Given the description of an element on the screen output the (x, y) to click on. 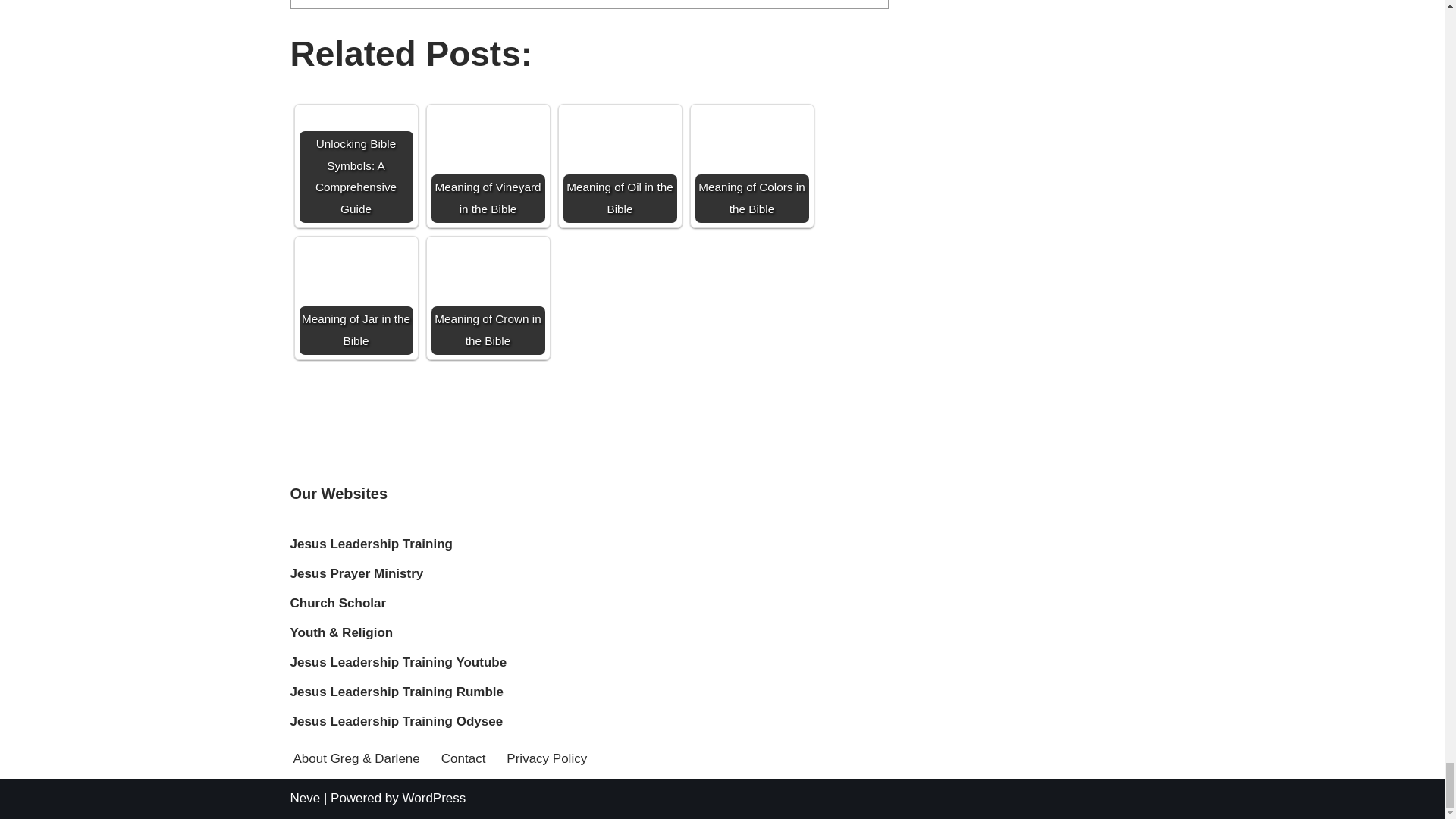
Meaning of Oil in the Bible (619, 165)
Meaning of Vineyard in the Bible (487, 165)
Meaning of Crown in the Bible (487, 297)
Meaning of Jar in the Bible (355, 297)
Unlocking Bible Symbols: A Comprehensive Guide (355, 141)
Unlocking Bible Symbols: A Comprehensive Guide (355, 165)
Meaning of Oil in the Bible (619, 165)
Meaning of Jar in the Bible (355, 297)
Meaning of Crown in the Bible (487, 297)
Meaning of Colors in the Bible (751, 165)
